Given the description of an element on the screen output the (x, y) to click on. 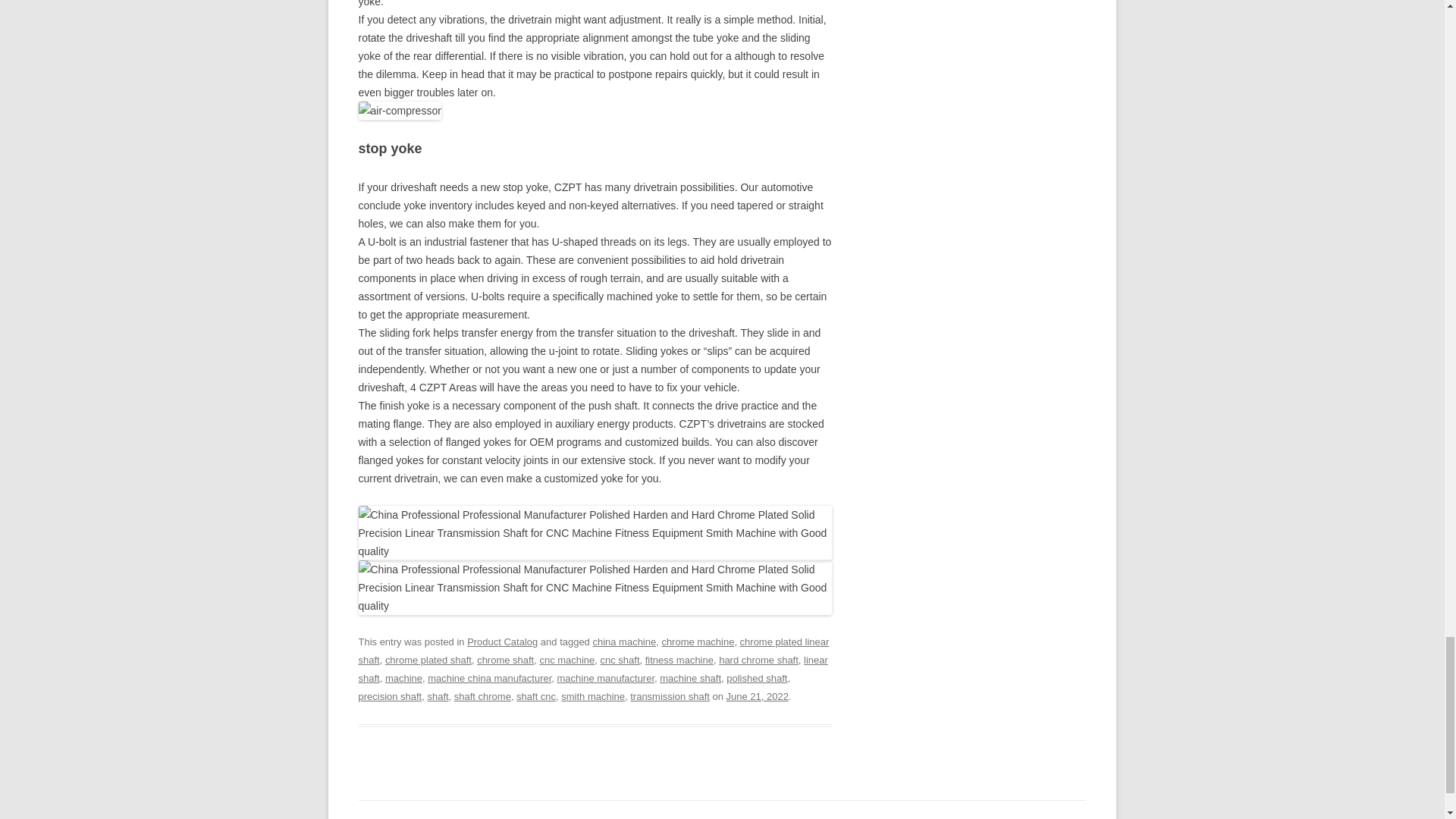
cnc shaft (619, 659)
hard chrome shaft (758, 659)
machine china manufacturer (489, 677)
transmission shaft (670, 696)
smith machine (592, 696)
shaft chrome (482, 696)
cnc machine (566, 659)
Product Catalog (502, 641)
fitness machine (679, 659)
machine (403, 677)
